Given the description of an element on the screen output the (x, y) to click on. 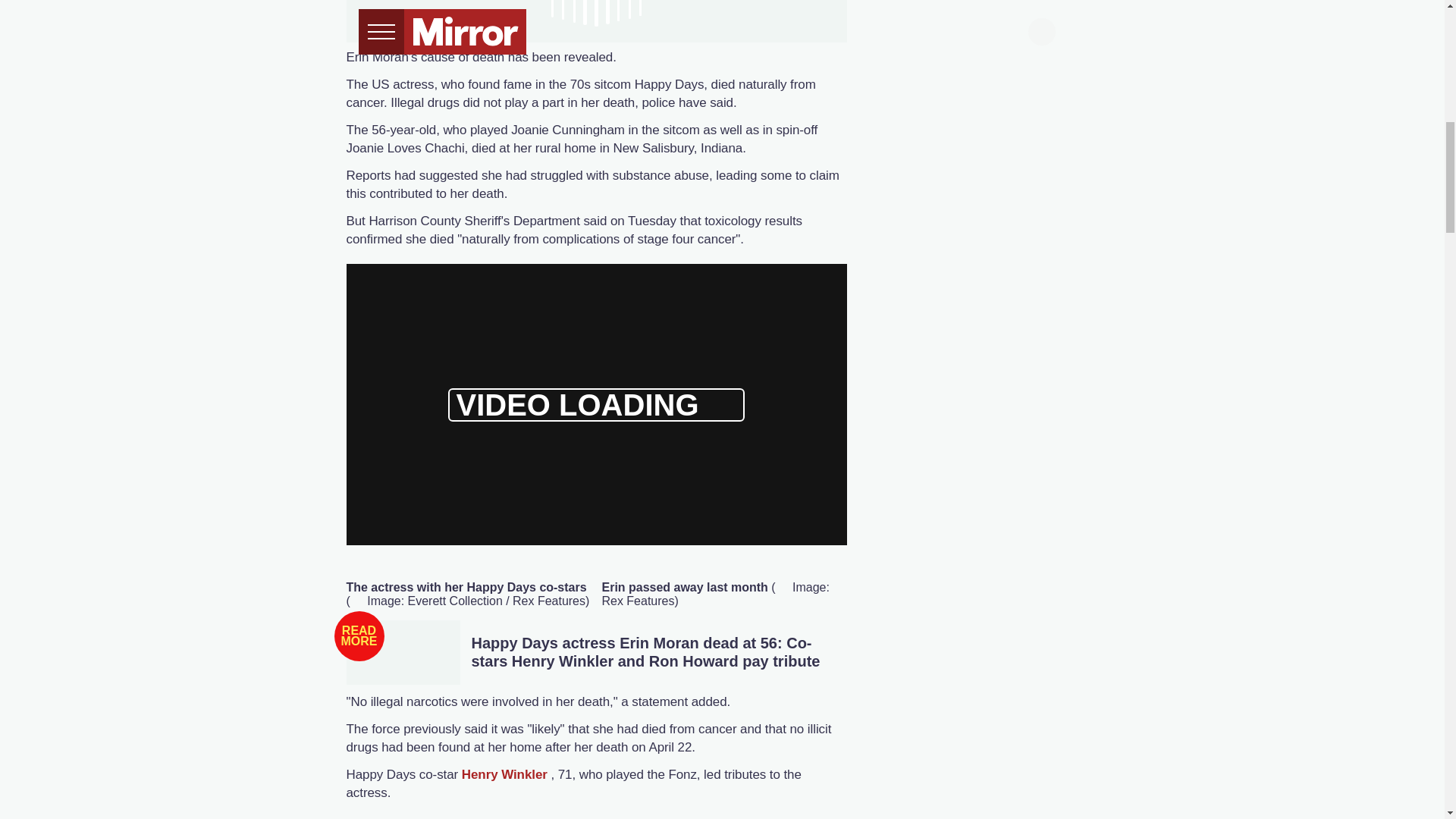
Henry Winkler (504, 774)
